Given the description of an element on the screen output the (x, y) to click on. 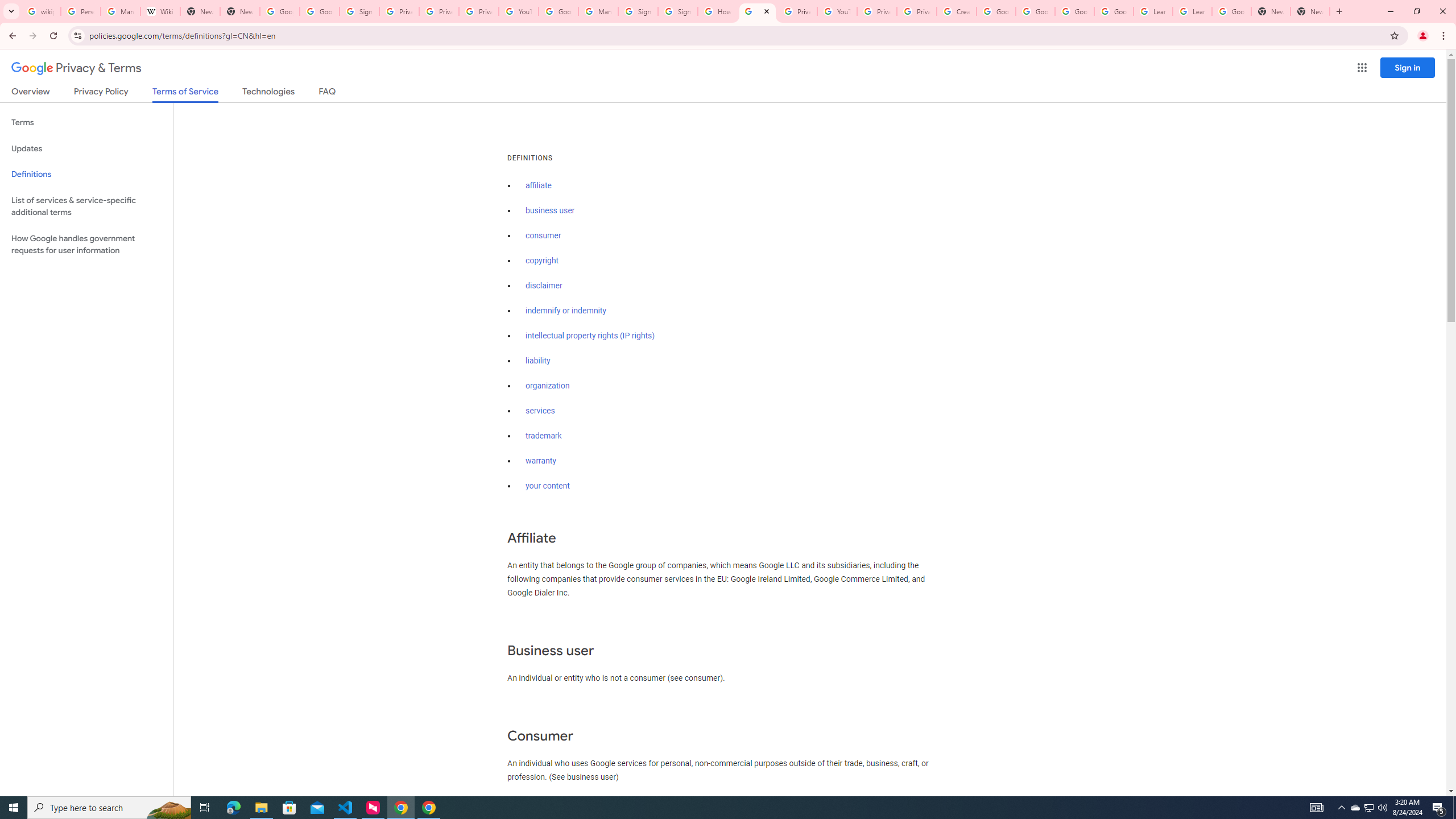
warranty (540, 461)
indemnify or indemnity (565, 311)
Google Drive: Sign-in (319, 11)
Google Account Help (1034, 11)
Google Account Help (1074, 11)
Create your Google Account (956, 11)
copyright (542, 260)
Sign in - Google Accounts (677, 11)
Wikipedia:Edit requests - Wikipedia (159, 11)
Manage your Location History - Google Search Help (120, 11)
